Given the description of an element on the screen output the (x, y) to click on. 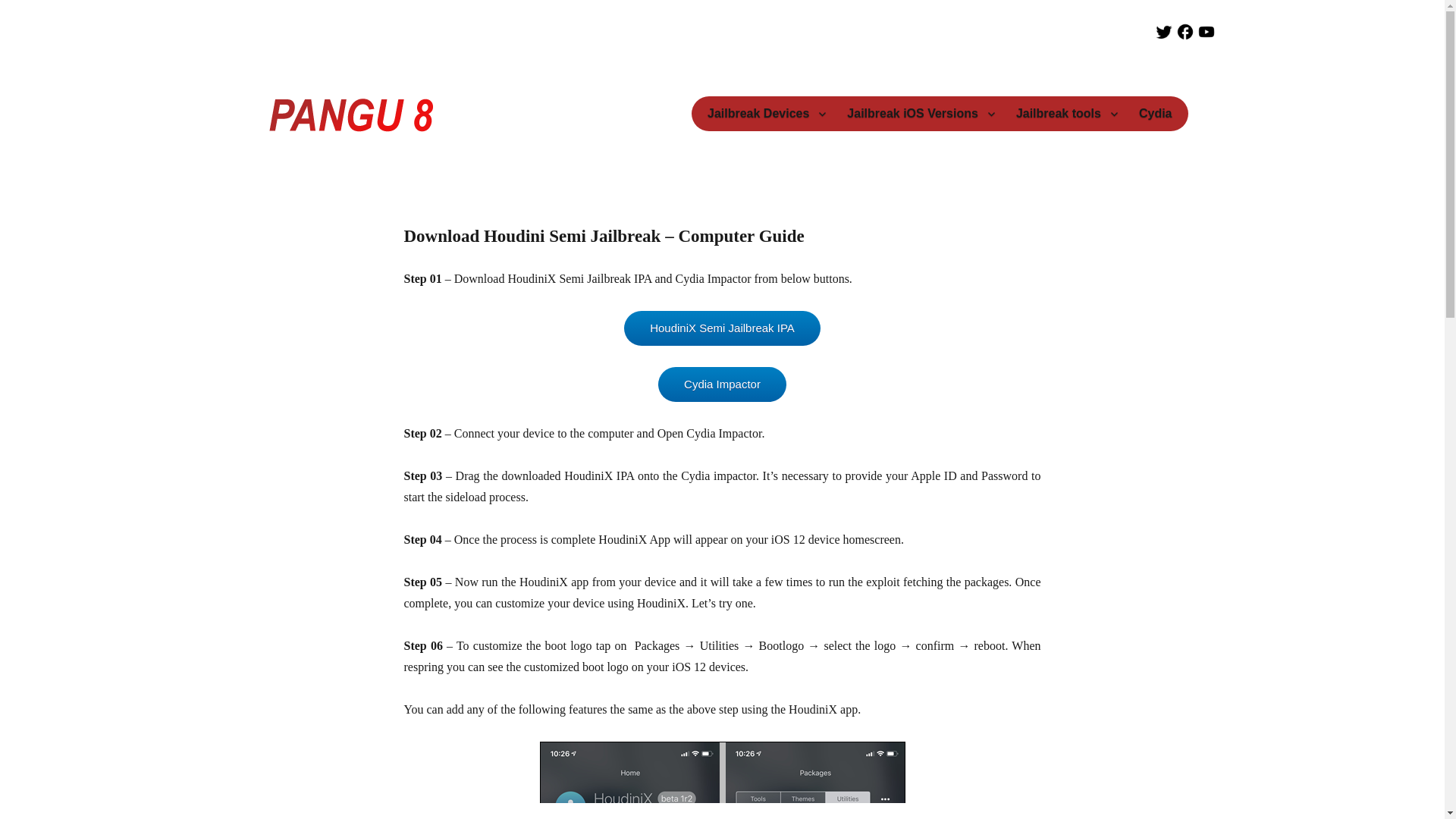
Jailbreak Devices (766, 113)
Your YouTube Channel (1205, 31)
Pangu8 (304, 164)
Your YouTube Channel (1183, 31)
Jailbreak iOS Versions (920, 113)
Your YouTube Channel (1163, 31)
